Given the description of an element on the screen output the (x, y) to click on. 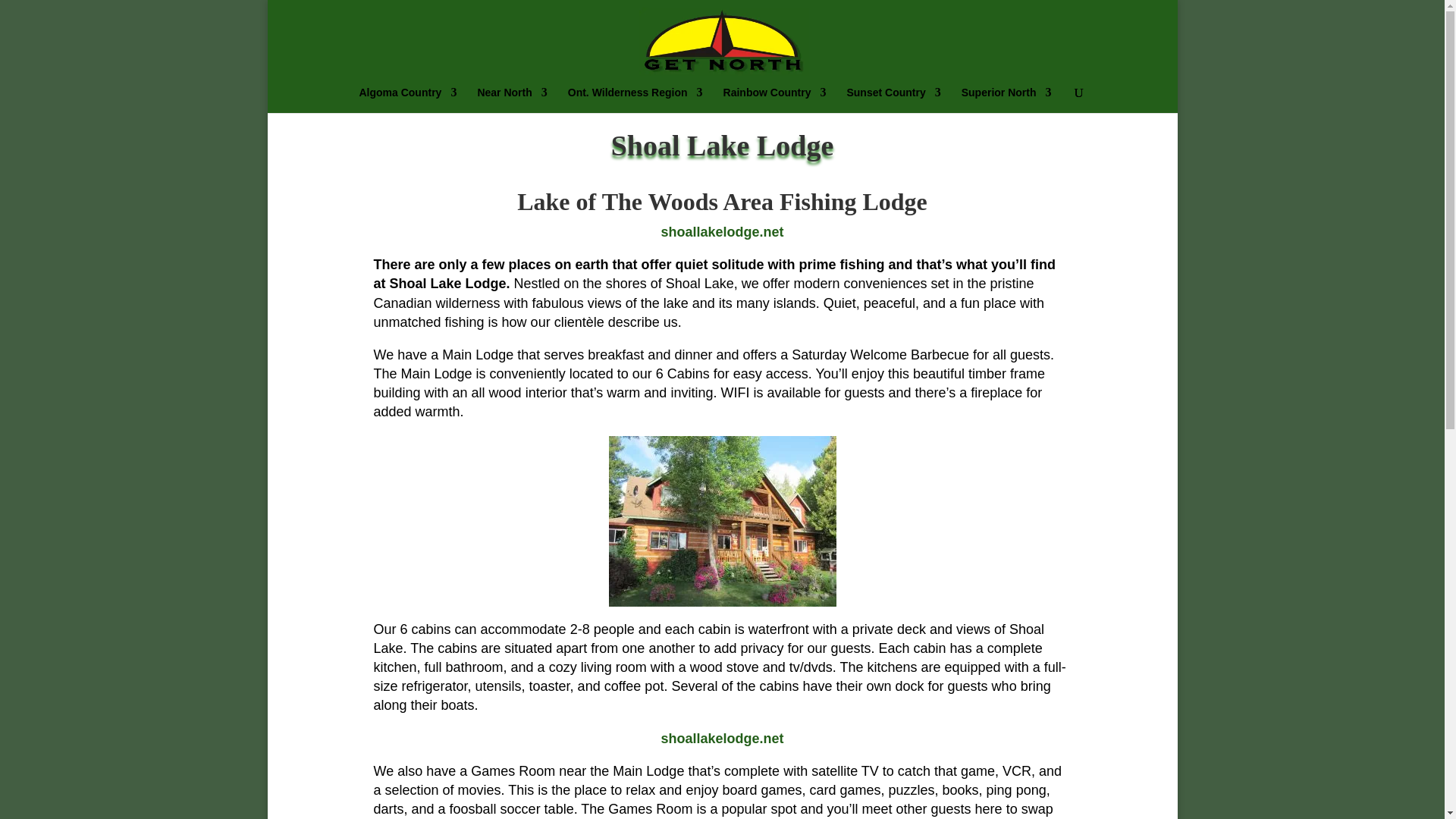
Near North (512, 99)
Rainbow Country (775, 99)
Algoma Country (407, 99)
Ont. Wilderness Region (635, 99)
